Given the description of an element on the screen output the (x, y) to click on. 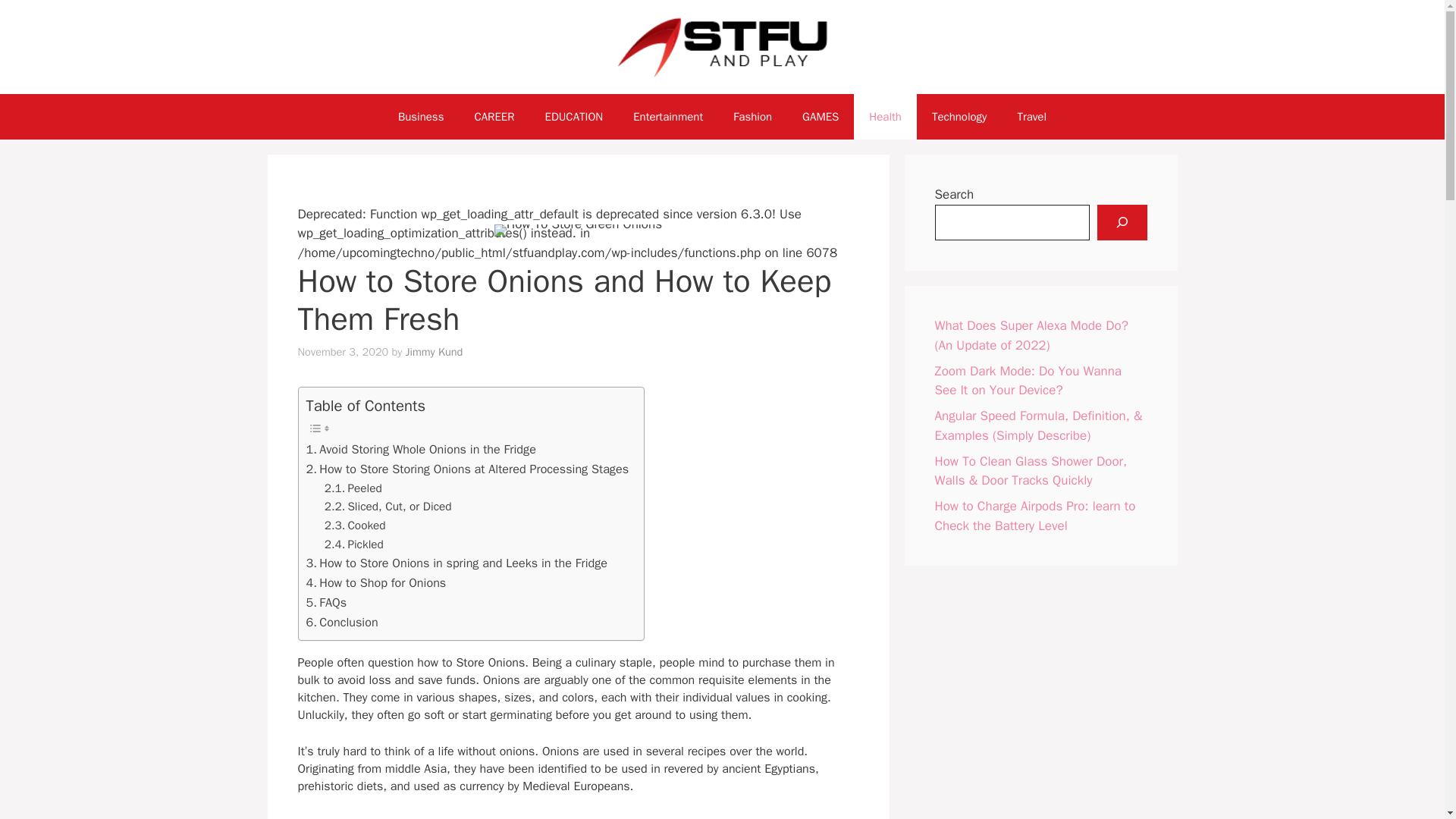
How to Shop for Onions (375, 582)
Business (421, 116)
CAREER (493, 116)
How to Store Onions in spring and Leeks in the Fridge (456, 563)
Fashion (752, 116)
Sliced, Cut, or Diced (387, 506)
EDUCATION (573, 116)
Pickled (354, 544)
Technology (960, 116)
FAQs (326, 602)
Health (885, 116)
FAQs (326, 602)
Conclusion (341, 622)
Jimmy Kund (434, 351)
